Given the description of an element on the screen output the (x, y) to click on. 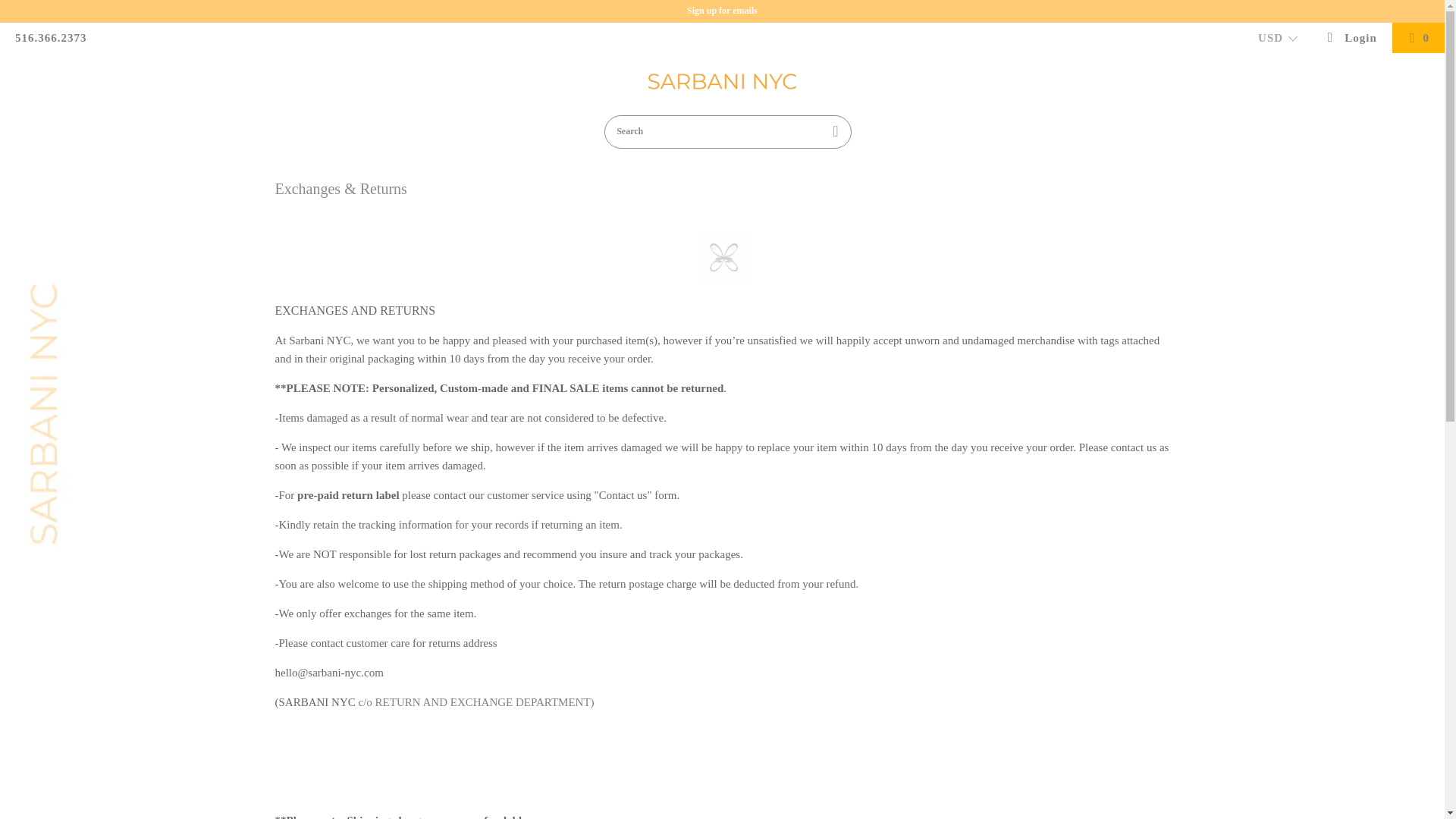
My Account  (1351, 37)
Sign up for emails (722, 9)
516.366.2373 (50, 37)
Login (1351, 37)
